Given the description of an element on the screen output the (x, y) to click on. 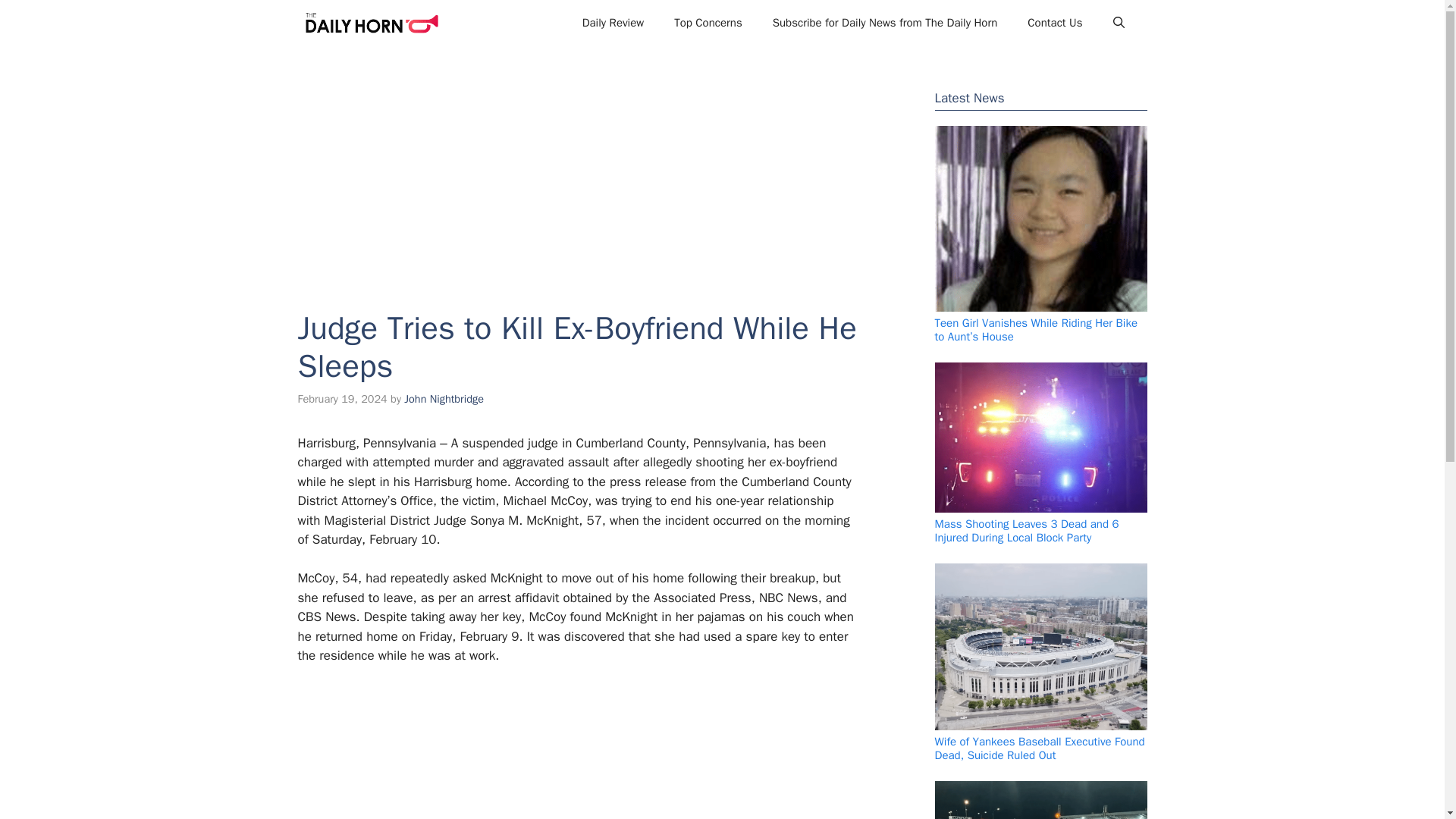
View all posts by John Nightbridge (443, 398)
Advertisement (577, 166)
Subscribe for Daily News from The Daily Horn (885, 22)
Top Concerns (708, 22)
Advertisement (570, 751)
The Daily Horn (371, 22)
Contact Us (1054, 22)
John Nightbridge (443, 398)
Daily Review (613, 22)
